Given the description of an element on the screen output the (x, y) to click on. 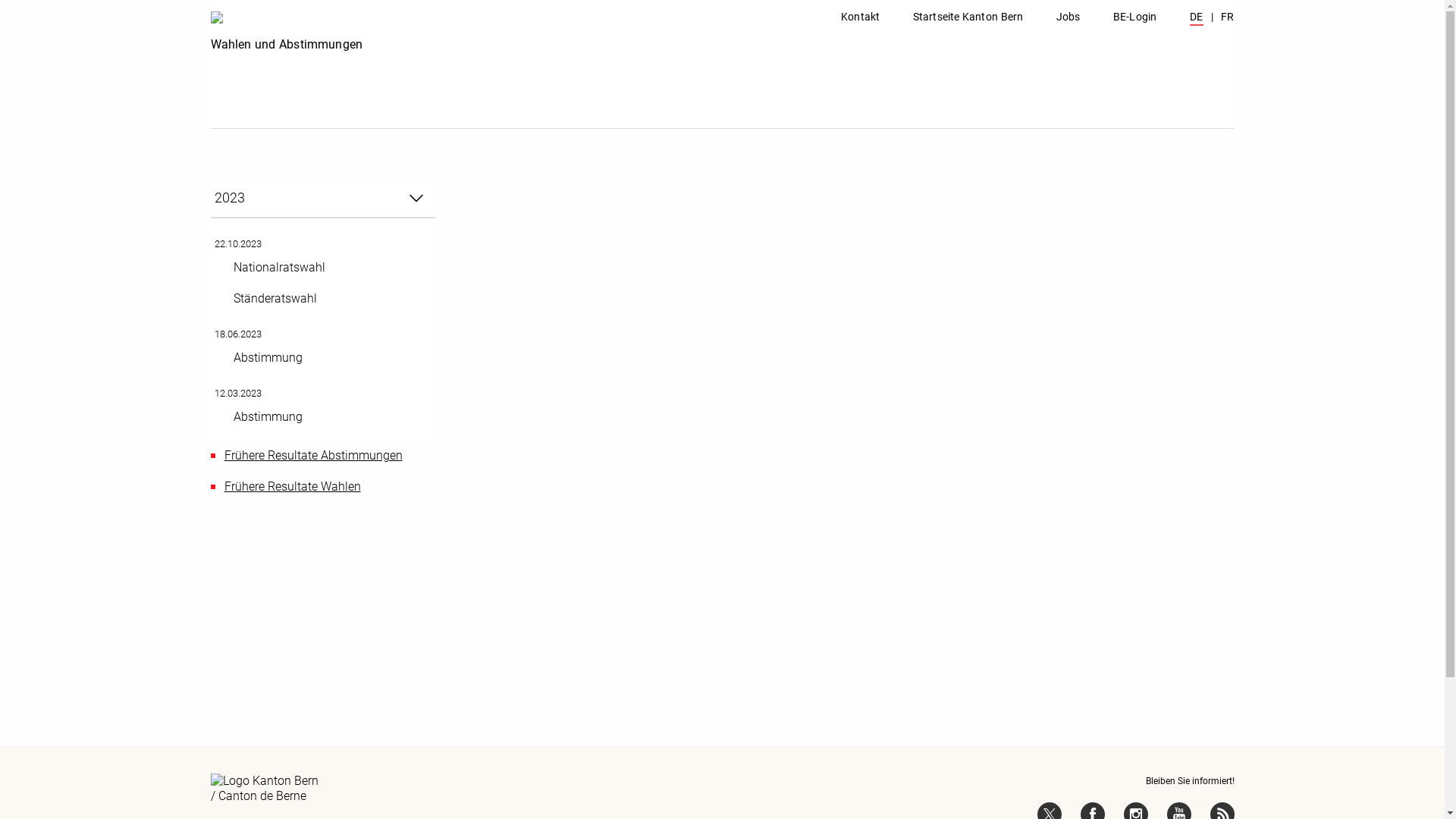
Nationalratswahl Element type: text (320, 267)
2023 Element type: text (318, 198)
12.03.2023 Element type: text (236, 392)
FR Element type: text (1227, 17)
Abstimmung Element type: text (320, 357)
18.06.2023 Element type: text (236, 333)
DE Element type: text (1196, 17)
22.10.2023 Element type: text (236, 243)
Startseite Kanton Bern Element type: text (967, 15)
2023 Element type: text (322, 198)
Jobs Element type: text (1068, 15)
BE-Login Element type: text (1134, 15)
Abstimmung Element type: text (320, 416)
Kontakt Element type: text (859, 15)
